Given the description of an element on the screen output the (x, y) to click on. 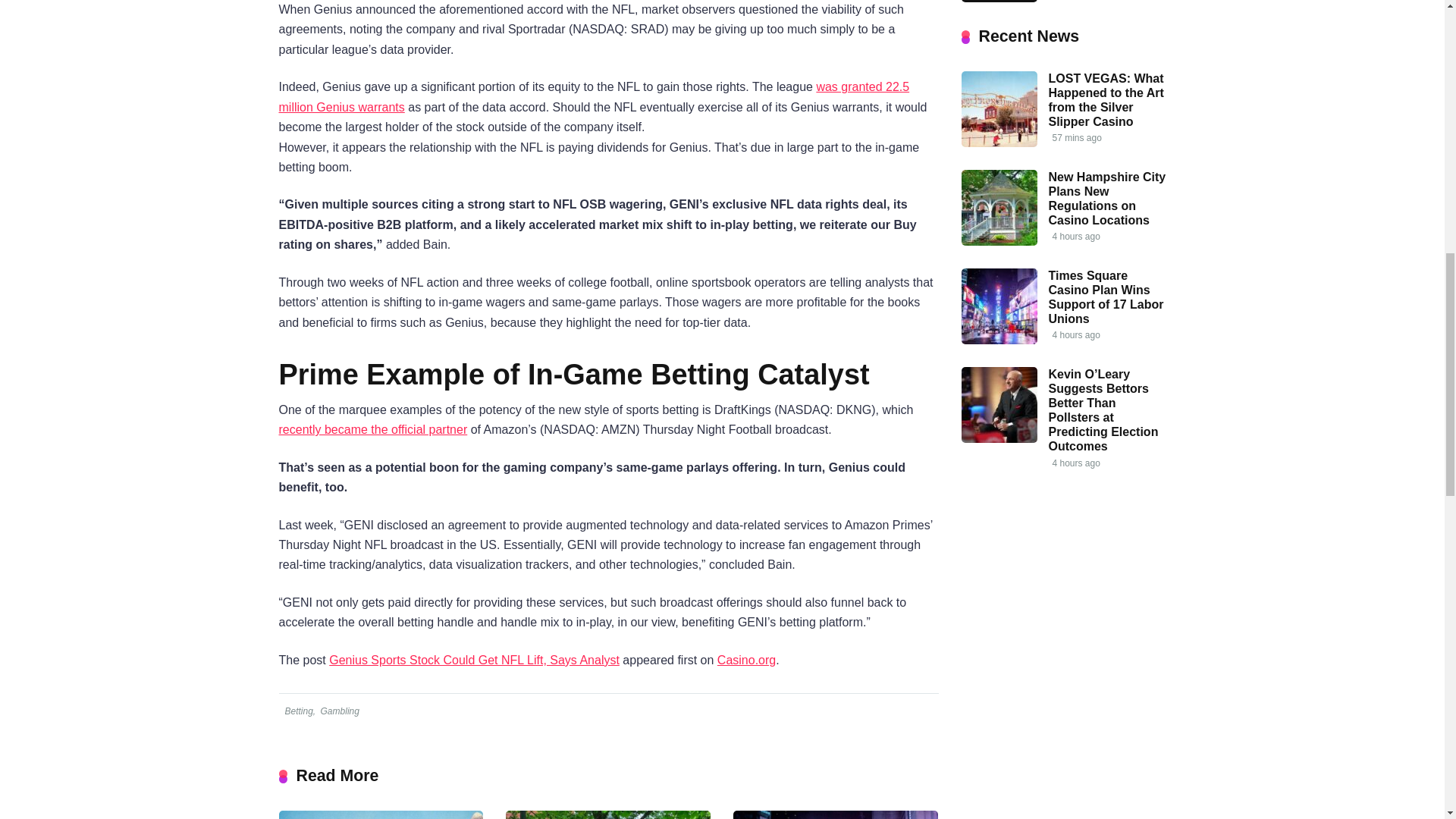
New Hampshire City Plans New Regulations on Casino Locations (607, 814)
Monte Casino (998, 2)
was granted 22.5 million Genius warrants (594, 96)
Times Square Casino Plan Wins Support of 17 Labor Unions (835, 814)
Casino.org (746, 659)
recently became the official partner (373, 429)
Genius Sports Stock Could Get NFL Lift, Says Analyst (474, 659)
Gambling (338, 710)
Betting (297, 710)
